Given the description of an element on the screen output the (x, y) to click on. 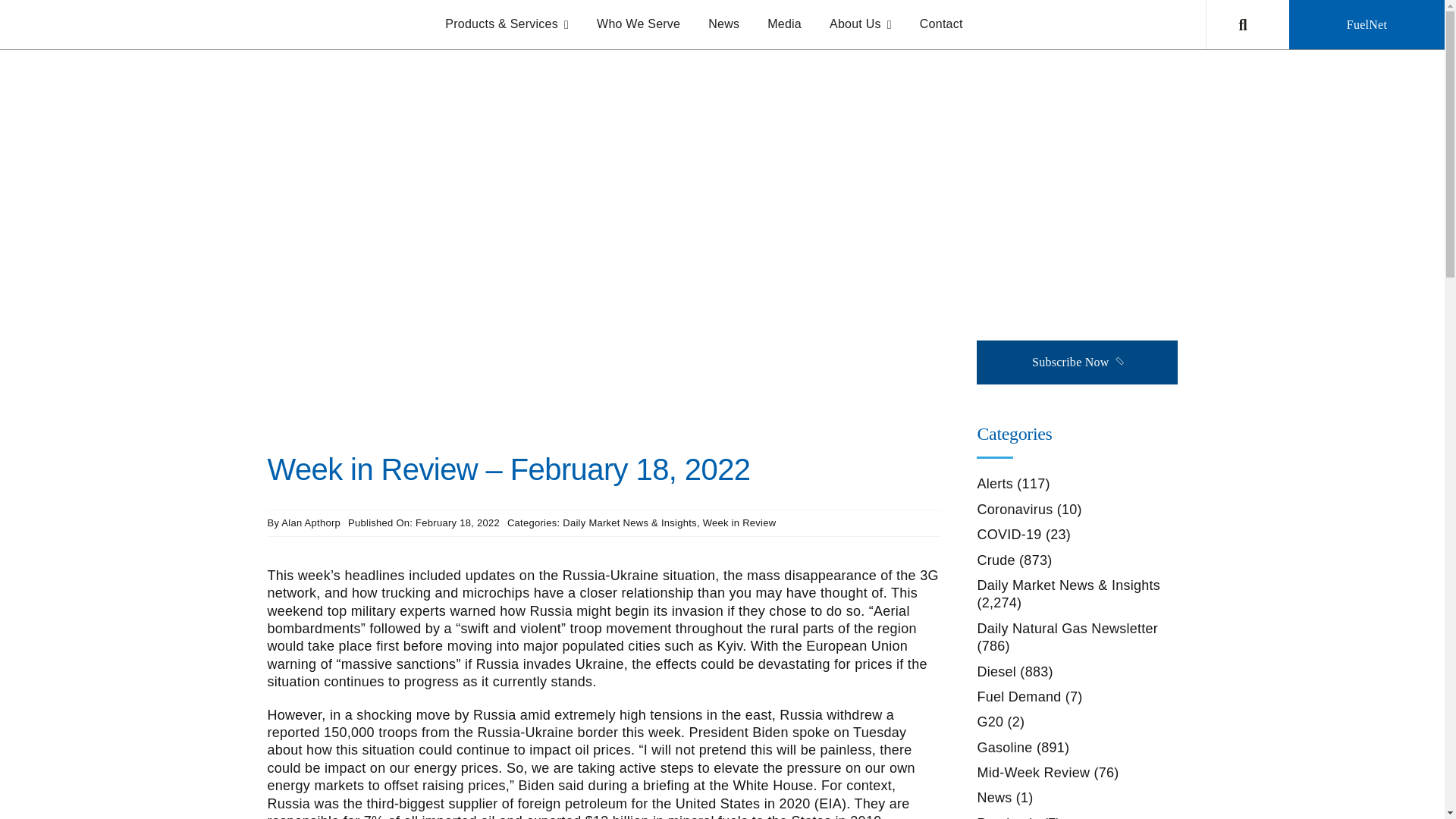
ngn-icon (1094, 144)
Who We Serve (638, 24)
fn-icon (1018, 144)
About Us (860, 24)
News (724, 24)
Contact (940, 24)
Media (784, 24)
Posts by Alan Apthorp (310, 522)
